Given the description of an element on the screen output the (x, y) to click on. 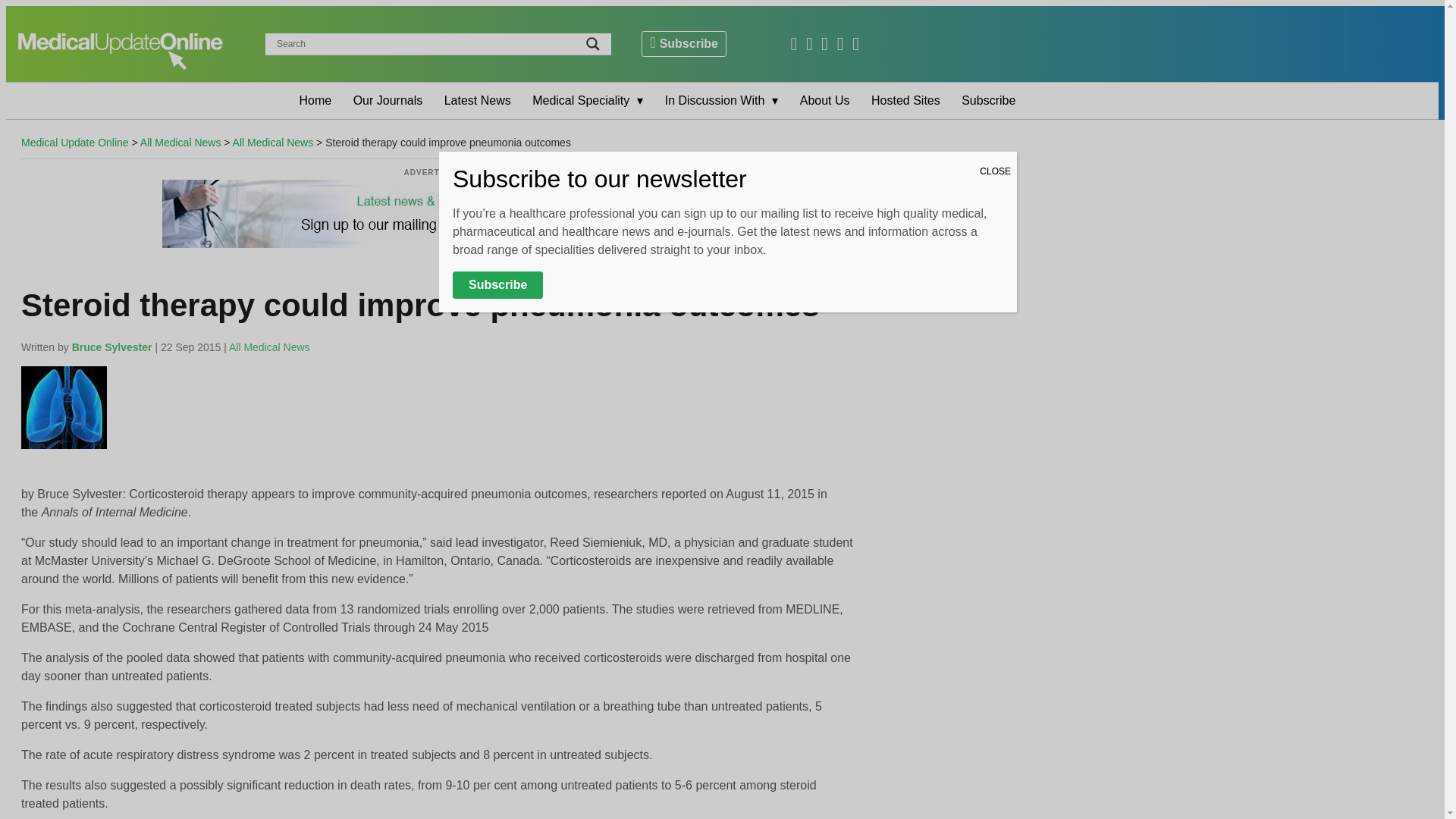
Home (314, 100)
Subscribe (684, 43)
Latest News (477, 100)
Go to Medical Update Online. (75, 142)
Posts by Bruce Sylvester (111, 346)
Our Journals (387, 100)
Go to All Medical News. (180, 142)
Go to the All Medical News Category archives. (273, 142)
Medical Speciality (587, 100)
